Given the description of an element on the screen output the (x, y) to click on. 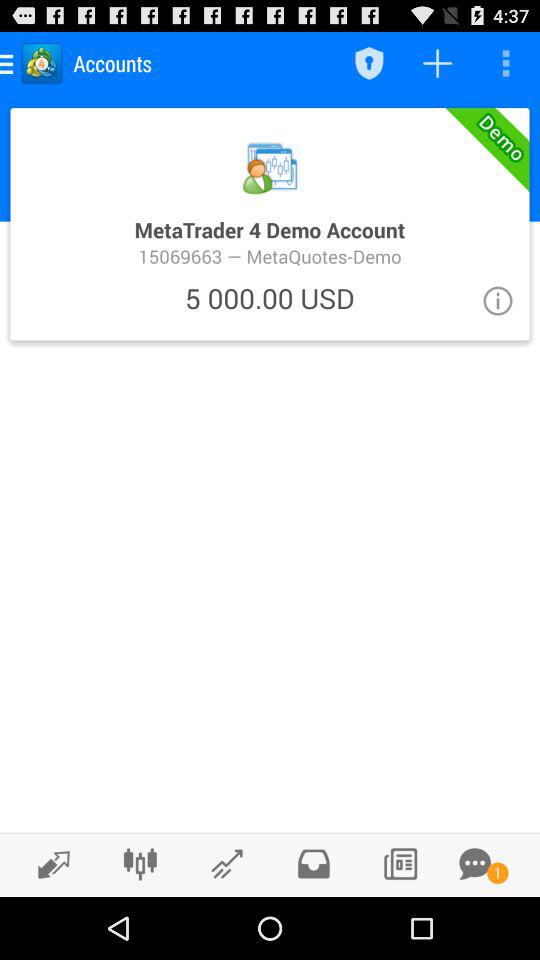
increase size (48, 864)
